Given the description of an element on the screen output the (x, y) to click on. 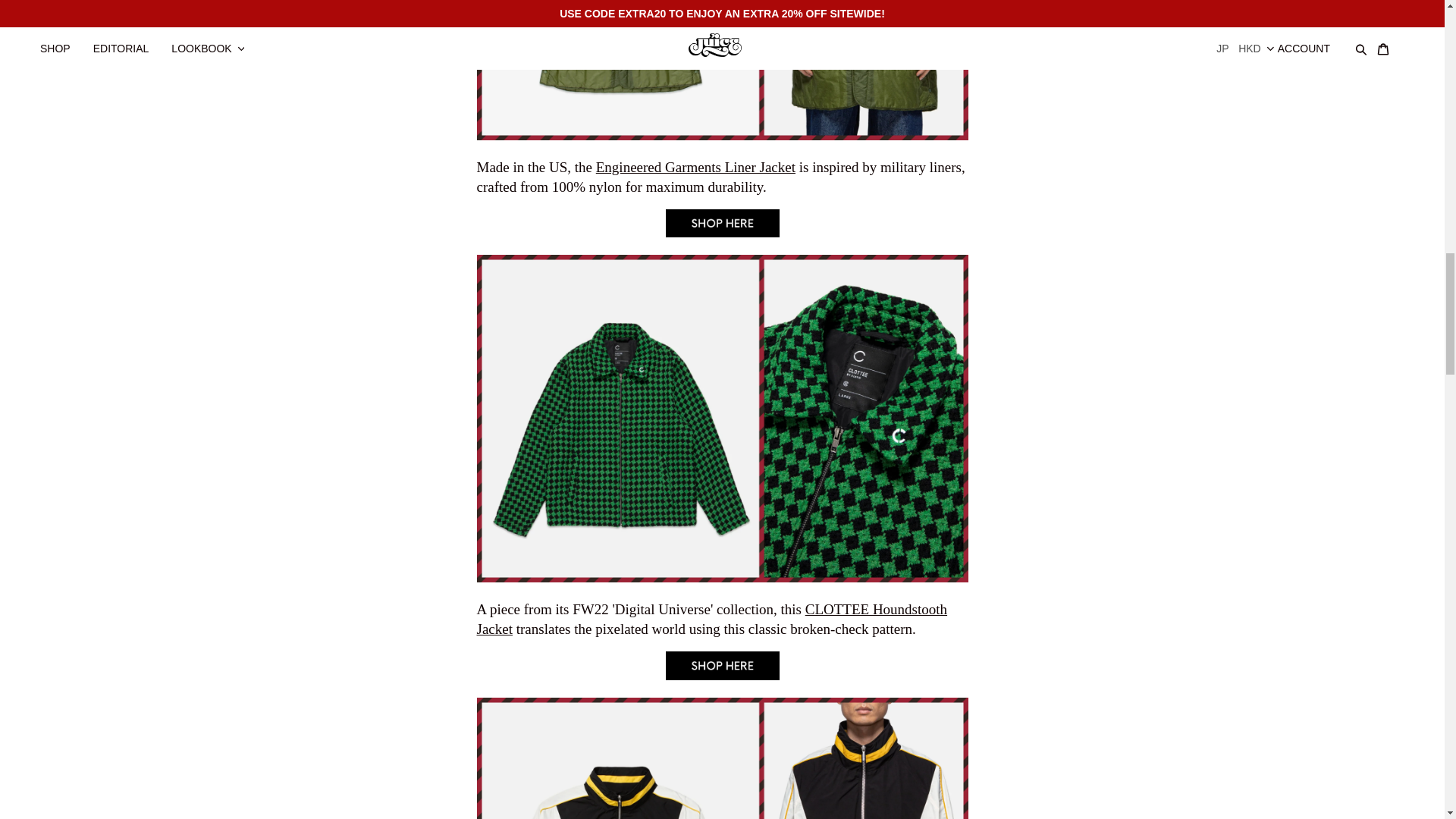
CLOTTEE Houndstooth Jacket (721, 675)
JUICE Holiday Gift Guide - Engineered Garments (694, 166)
CLOTTEE Houndstooth Jacket (711, 619)
Engineered Garments Liner Jacket (721, 232)
